Given the description of an element on the screen output the (x, y) to click on. 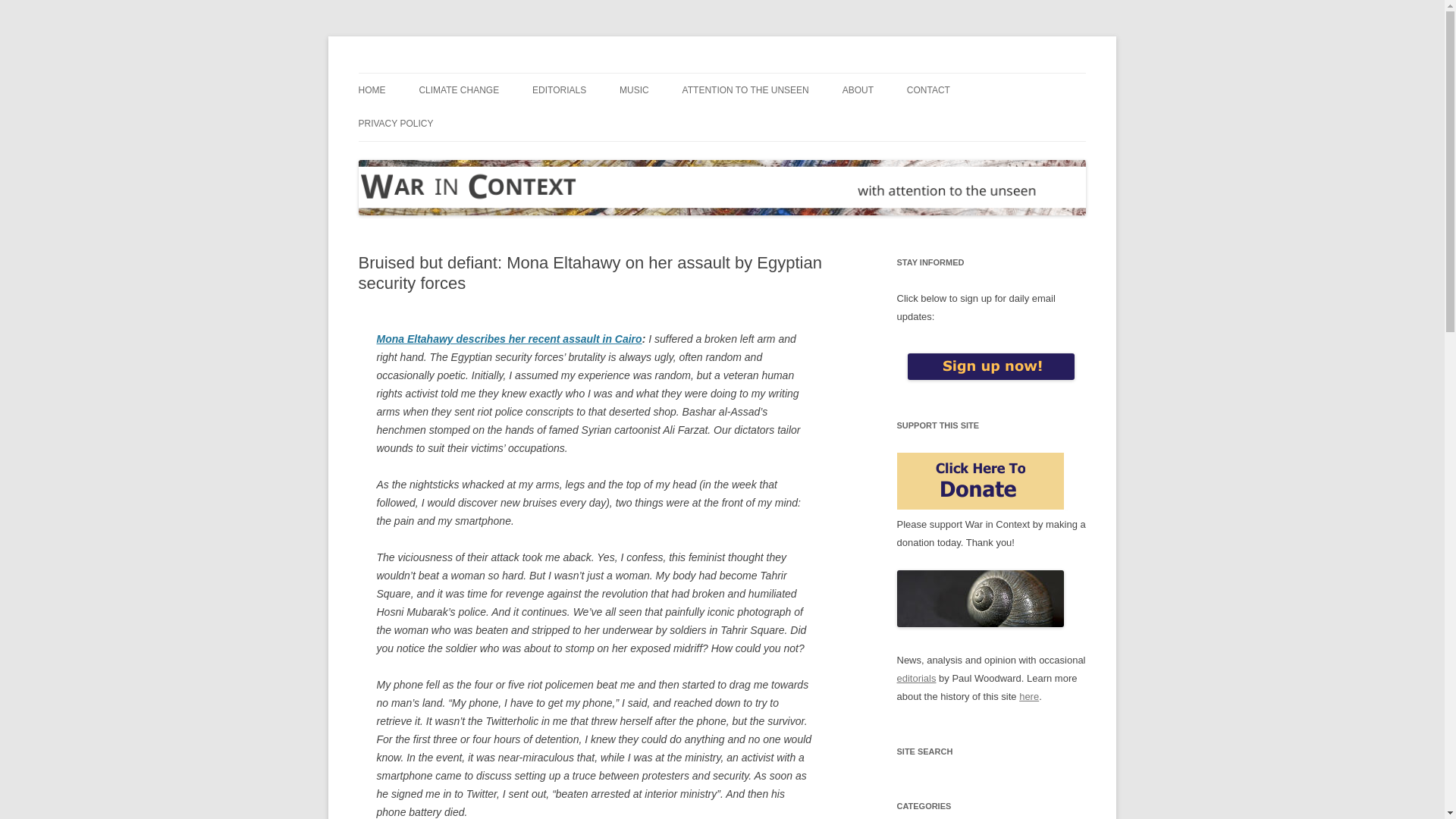
here (1029, 696)
PRIVACY POLICY (395, 123)
CLIMATE CHANGE (459, 90)
ABOUT (858, 90)
Mona Eltahawy describes her recent assault in Cairo (508, 338)
War in Context (427, 72)
editorials (916, 677)
EDITORIALS (559, 90)
CONTACT (928, 90)
ATTENTION TO THE UNSEEN (745, 90)
